Given the description of an element on the screen output the (x, y) to click on. 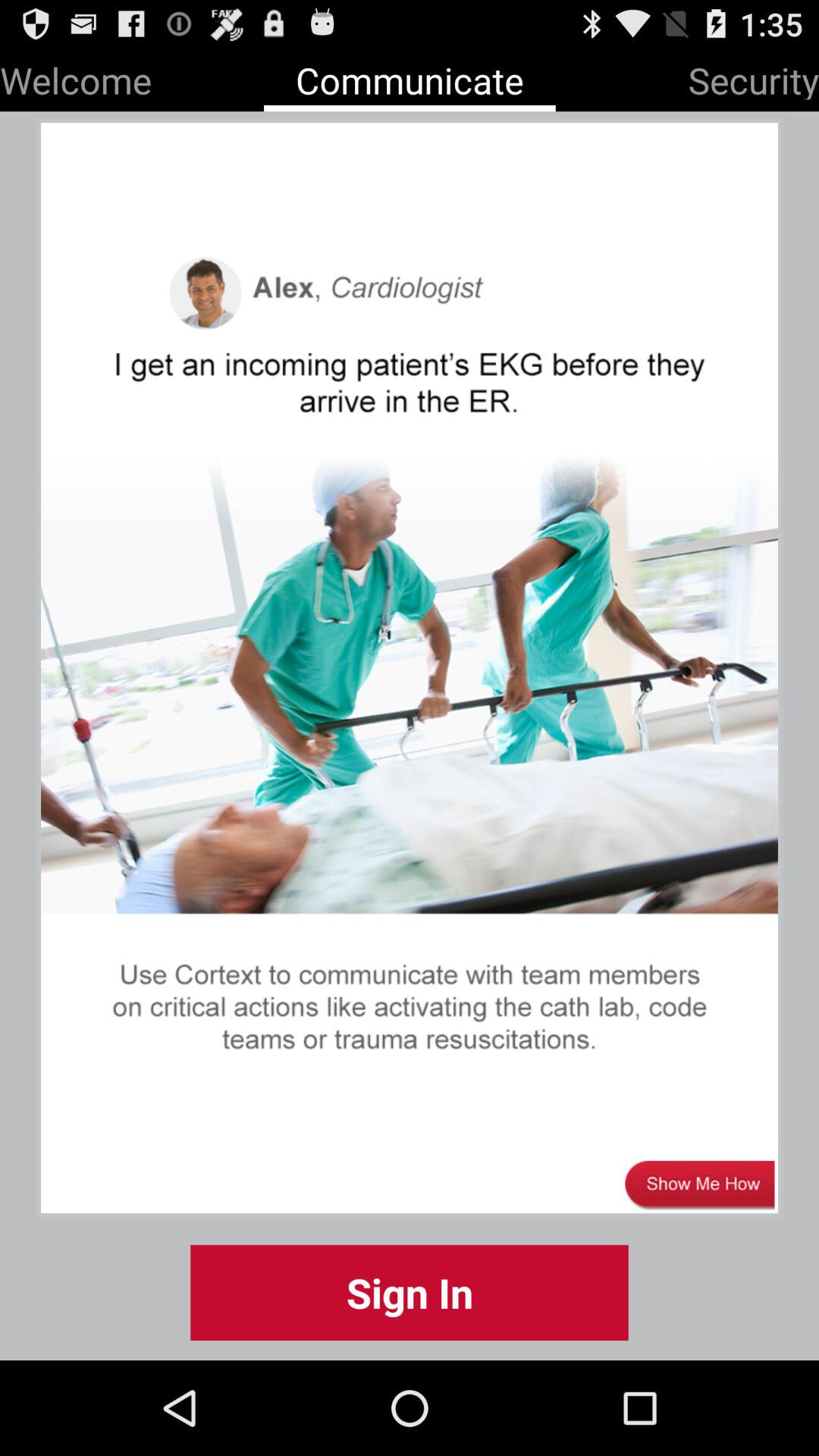
click the icon at the top left corner (75, 77)
